Given the description of an element on the screen output the (x, y) to click on. 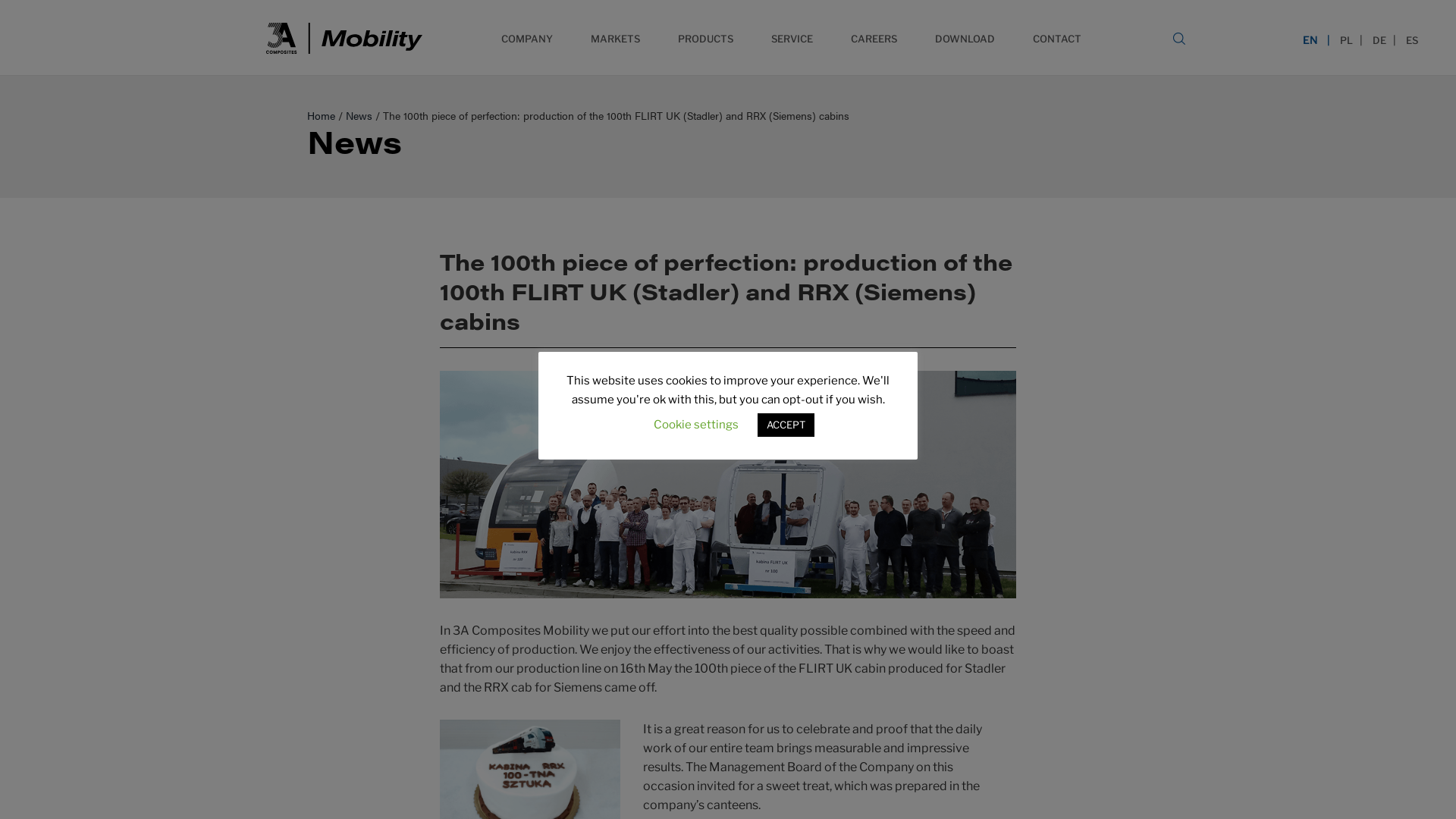
PRODUCTS Element type: text (705, 36)
Cookie settings Element type: text (695, 424)
ACCEPT Element type: text (784, 424)
News Element type: text (358, 114)
DOWNLOAD Element type: text (964, 36)
COMPANY Element type: text (526, 36)
SERVICE Element type: text (791, 36)
MARKETS Element type: text (615, 36)
CONTACT Element type: text (1056, 36)
ES Element type: text (1411, 39)
CAREERS Element type: text (873, 36)
Home Element type: text (321, 114)
DE Element type: text (1379, 39)
PL Element type: text (1345, 39)
